Given the description of an element on the screen output the (x, y) to click on. 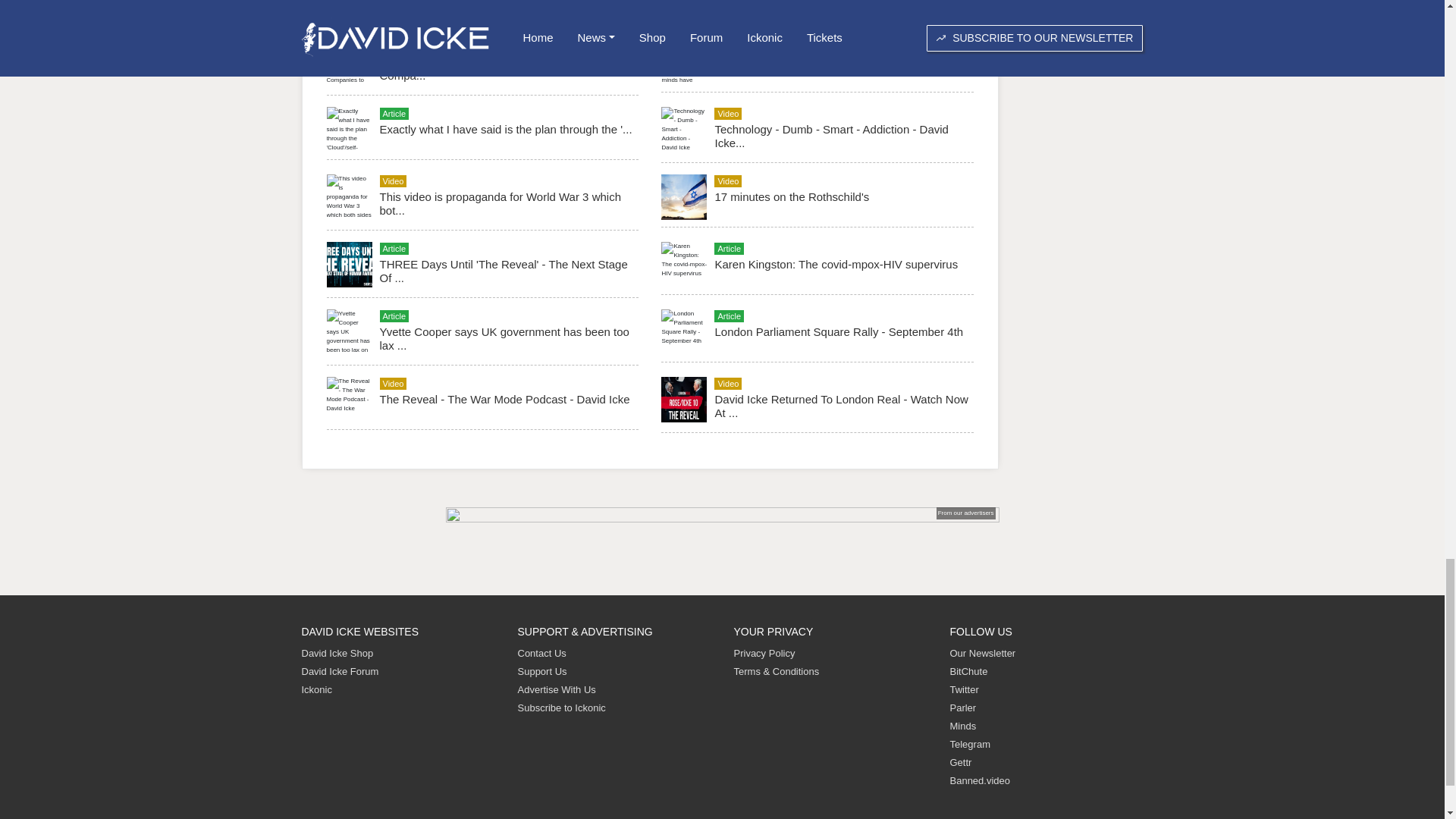
Uncovering World Tyranny And Its War Strategy - David Icke (502, 7)
